Given the description of an element on the screen output the (x, y) to click on. 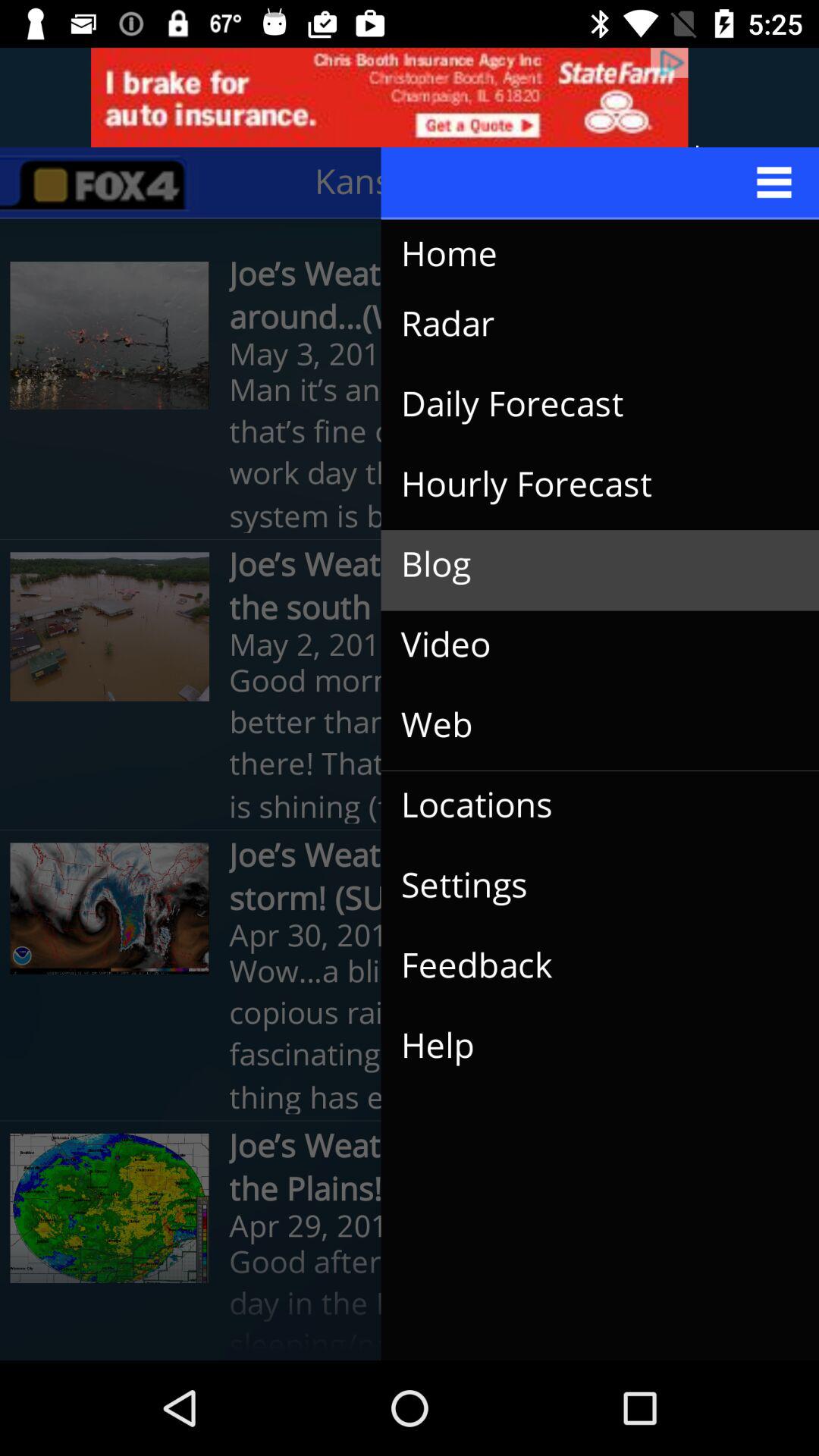
tap kansas city, mo icon (468, 182)
